Given the description of an element on the screen output the (x, y) to click on. 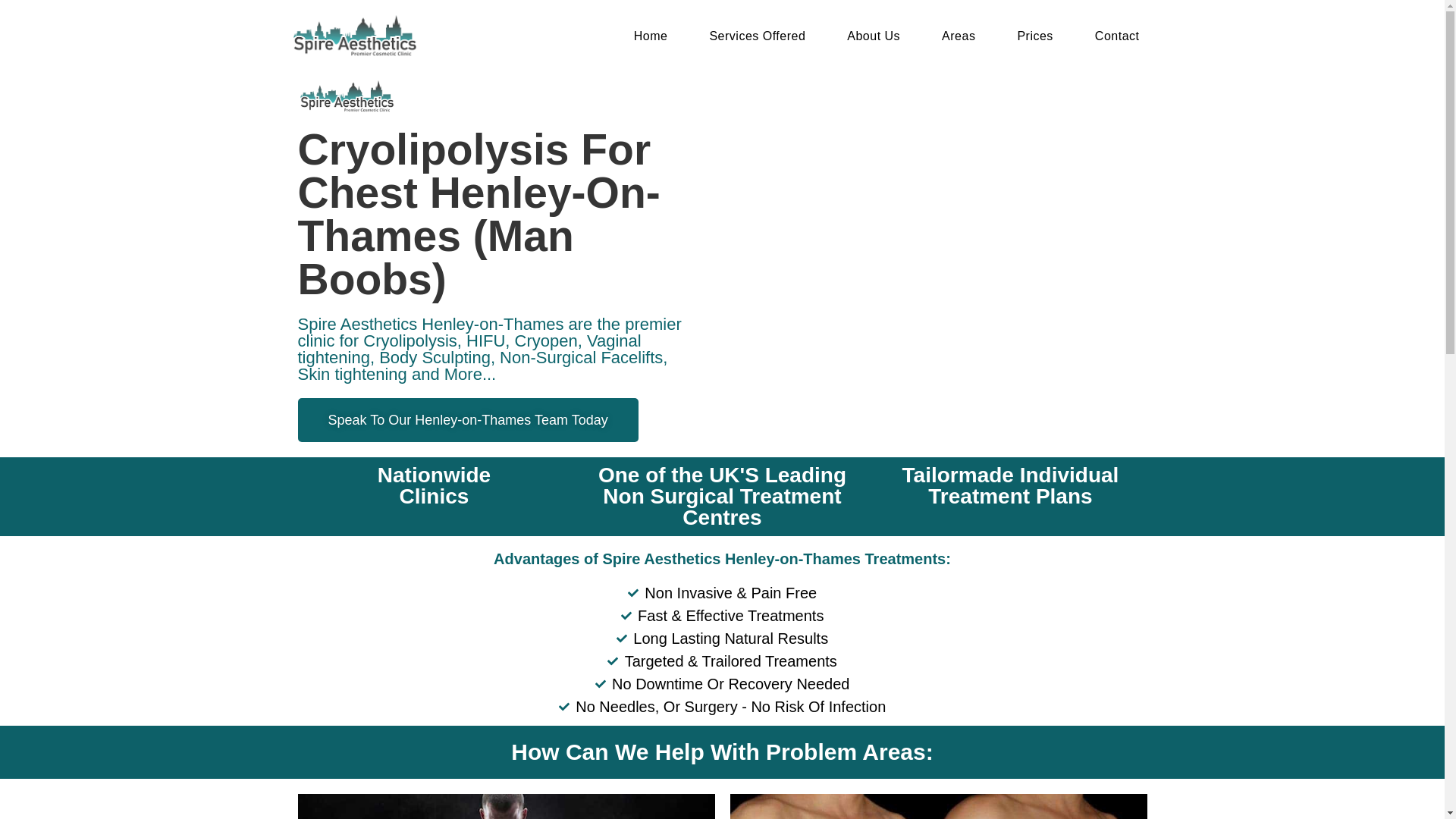
Home (650, 36)
Services Offered (757, 36)
